Given the description of an element on the screen output the (x, y) to click on. 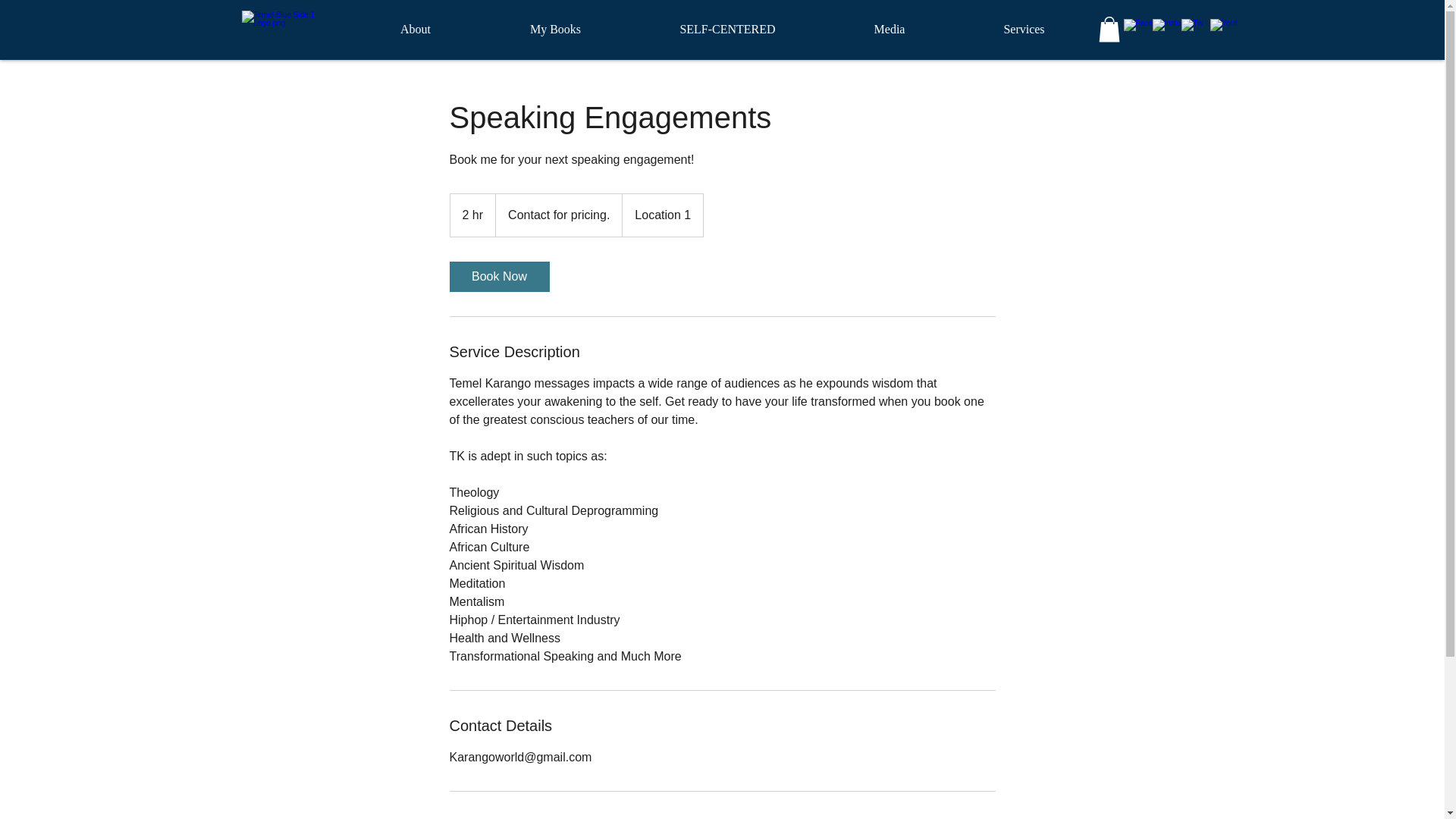
About (415, 29)
My Books (555, 29)
Media (890, 29)
Book Now (498, 276)
SELF-CENTERED (727, 29)
Services (1023, 29)
